Given the description of an element on the screen output the (x, y) to click on. 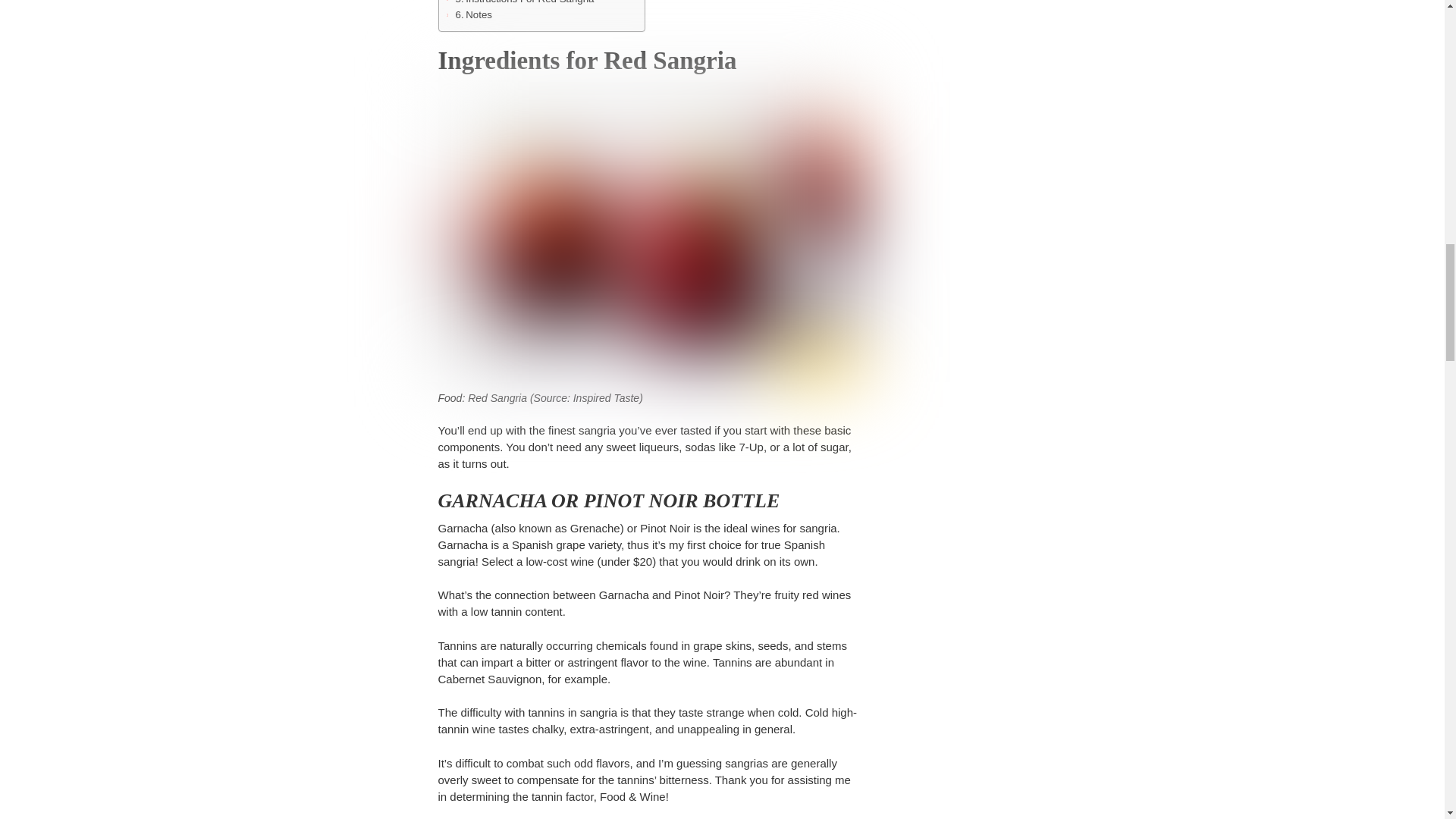
Notes (473, 14)
Instructions For Red Sangria (524, 3)
Notes (473, 14)
Instructions For Red Sangria (524, 3)
